Given the description of an element on the screen output the (x, y) to click on. 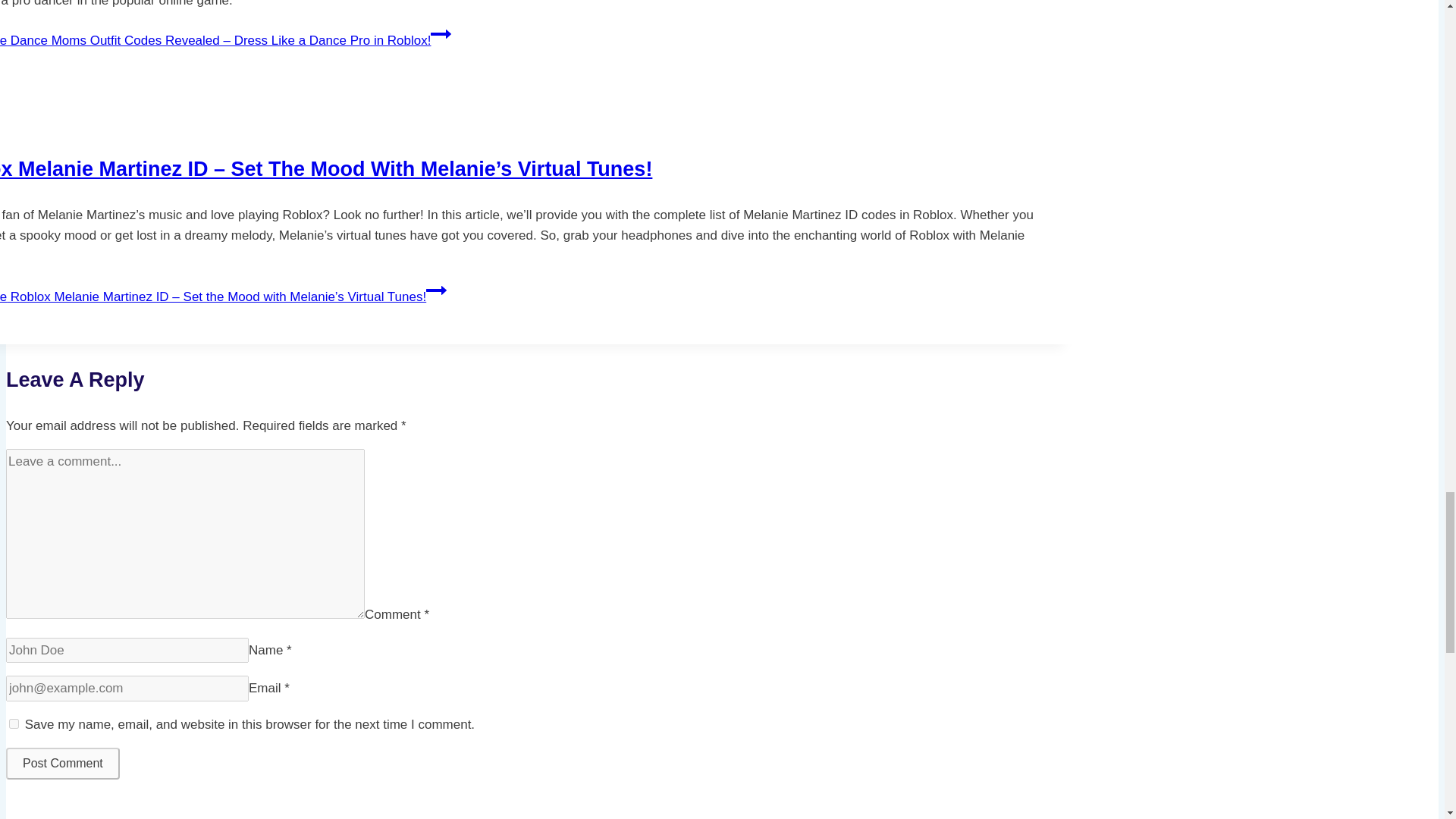
yes (13, 723)
Continue (440, 34)
Continue (436, 290)
Post Comment (62, 763)
